Given the description of an element on the screen output the (x, y) to click on. 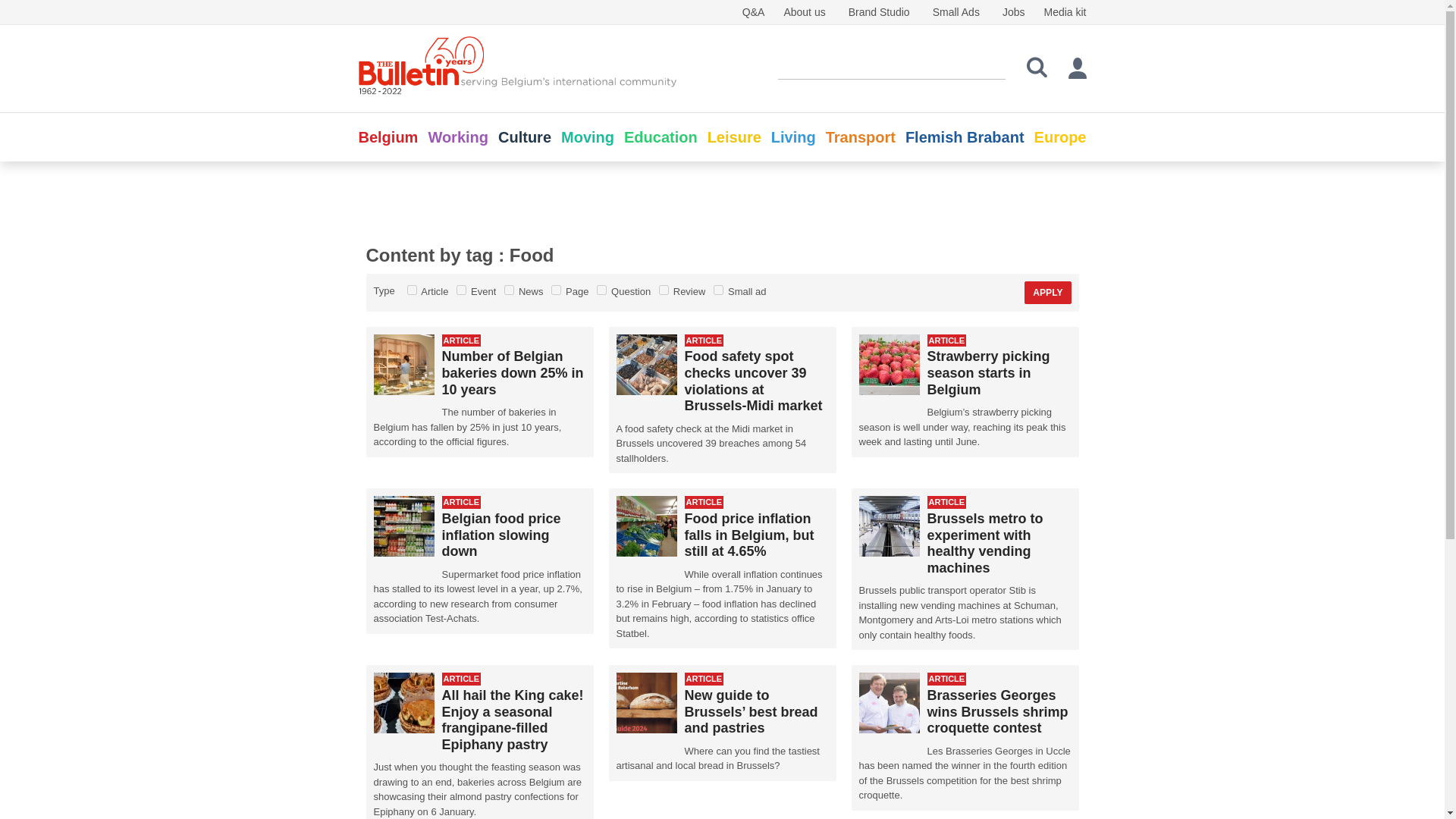
question (601, 289)
Small Ads (956, 11)
Search (1037, 67)
Belgian food price inflation slowing down (500, 534)
Moving (587, 136)
Search (1037, 67)
event (461, 289)
Apply (1047, 292)
Jobs (1014, 11)
About us (804, 11)
